Given the description of an element on the screen output the (x, y) to click on. 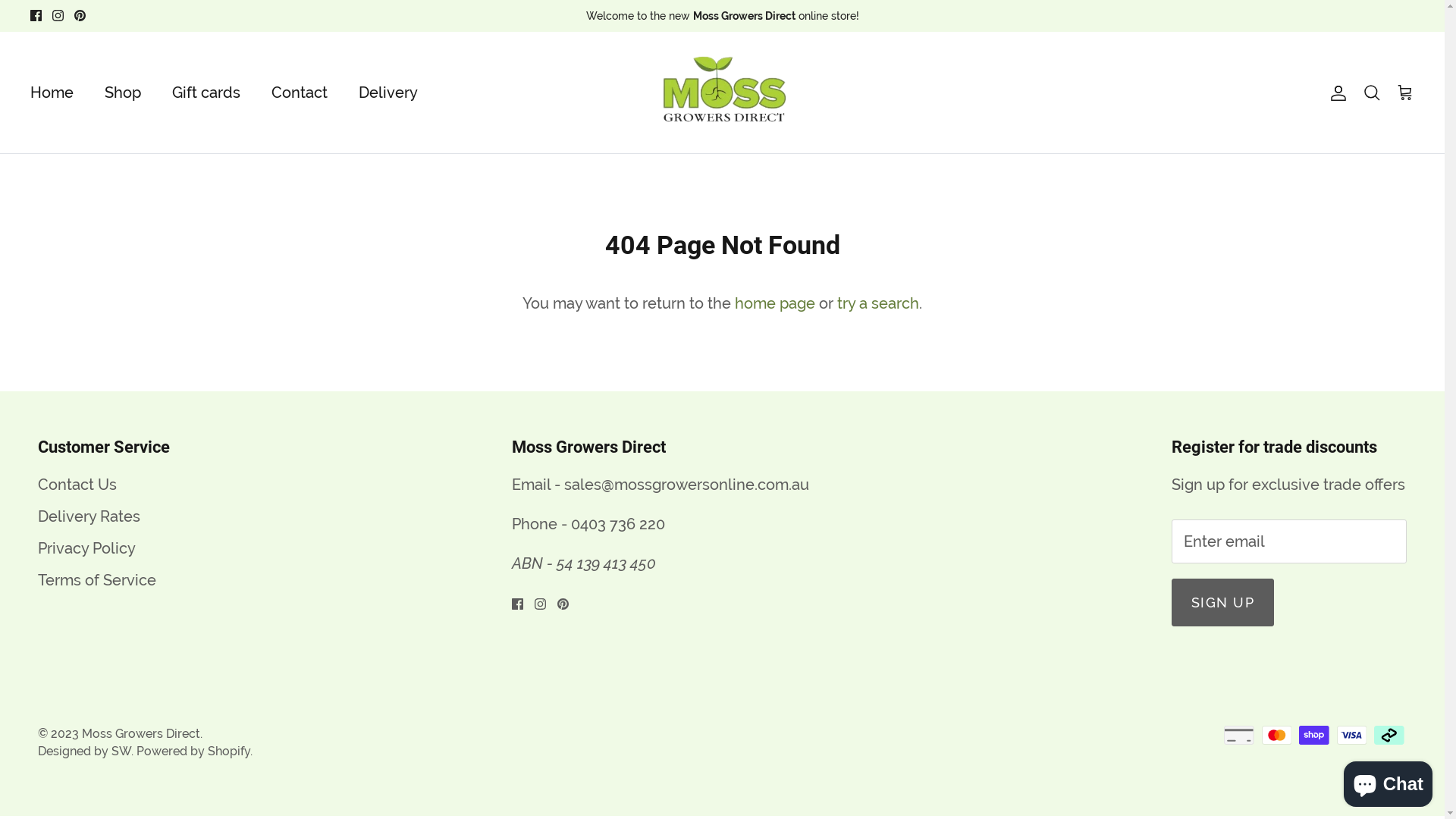
Facebook Element type: text (516, 603)
Home Element type: text (51, 92)
0403 736 220 Element type: text (617, 523)
Powered by Shopify Element type: text (193, 750)
Cart Element type: text (1405, 92)
Facebook Element type: text (35, 15)
Search Element type: text (1371, 92)
Instagram Element type: text (539, 603)
Contact Element type: text (299, 92)
Pinterest Element type: text (561, 603)
Contact Us Element type: text (76, 484)
Privacy Policy Element type: text (86, 548)
Moss Growers Direct Element type: text (140, 733)
home page Element type: text (774, 303)
Shopify online store chat Element type: hover (1388, 780)
SIGN UP Element type: text (1222, 602)
sales@mossgrowersonline.com.au Element type: text (686, 484)
Account Element type: text (1335, 92)
Delivery Rates Element type: text (88, 516)
Delivery Element type: text (388, 92)
Shop Element type: text (122, 92)
Moss Growers Direct Element type: hover (721, 92)
Pinterest Element type: text (79, 15)
Designed by SW Element type: text (84, 750)
Gift cards Element type: text (206, 92)
Terms of Service Element type: text (96, 580)
try a search Element type: text (878, 303)
Instagram Element type: text (57, 15)
